Given the description of an element on the screen output the (x, y) to click on. 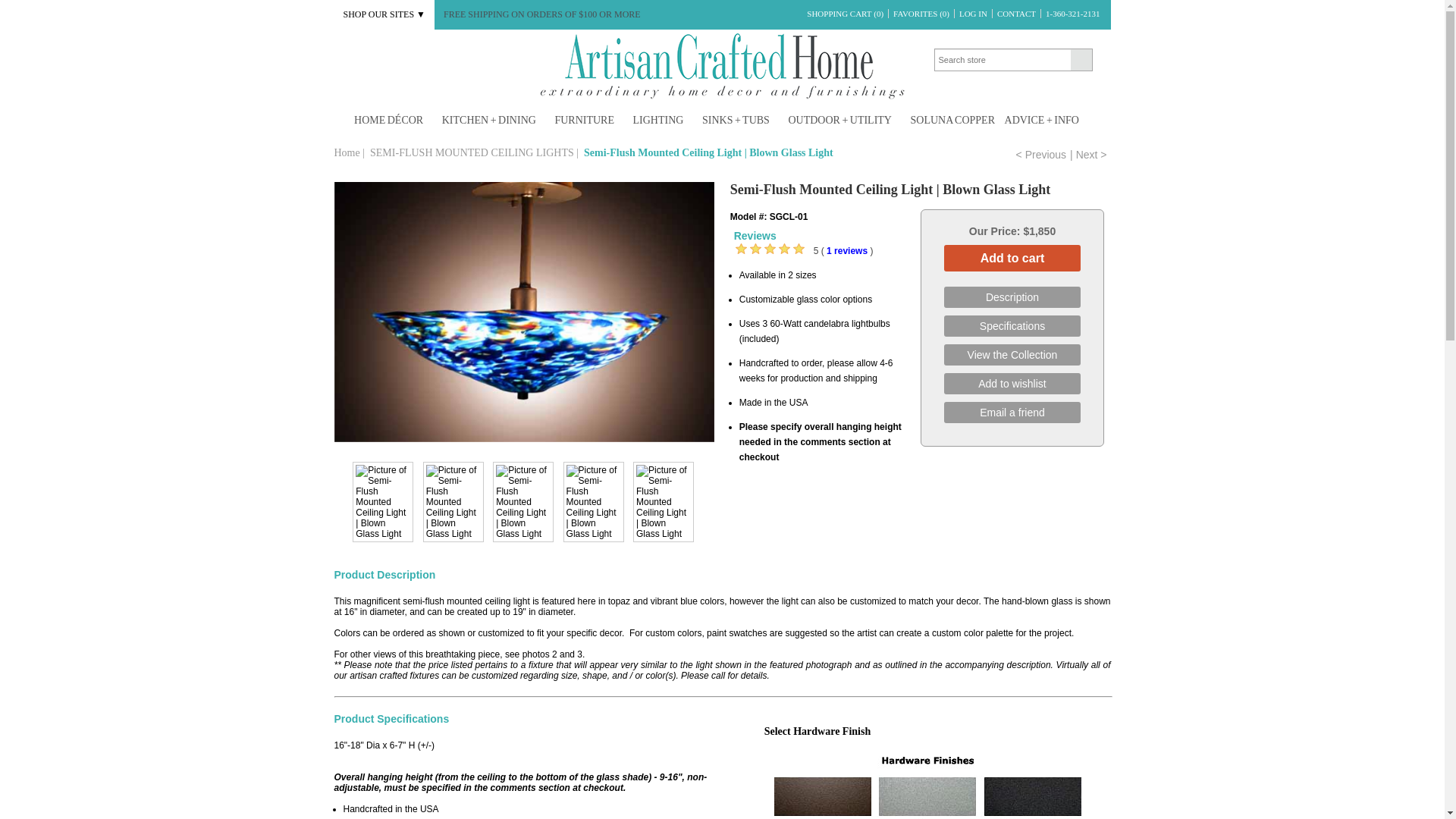
FURNITURE (588, 120)
CONTACT (1016, 13)
1-360-321-2131 (1072, 13)
LOG IN (973, 13)
